Given the description of an element on the screen output the (x, y) to click on. 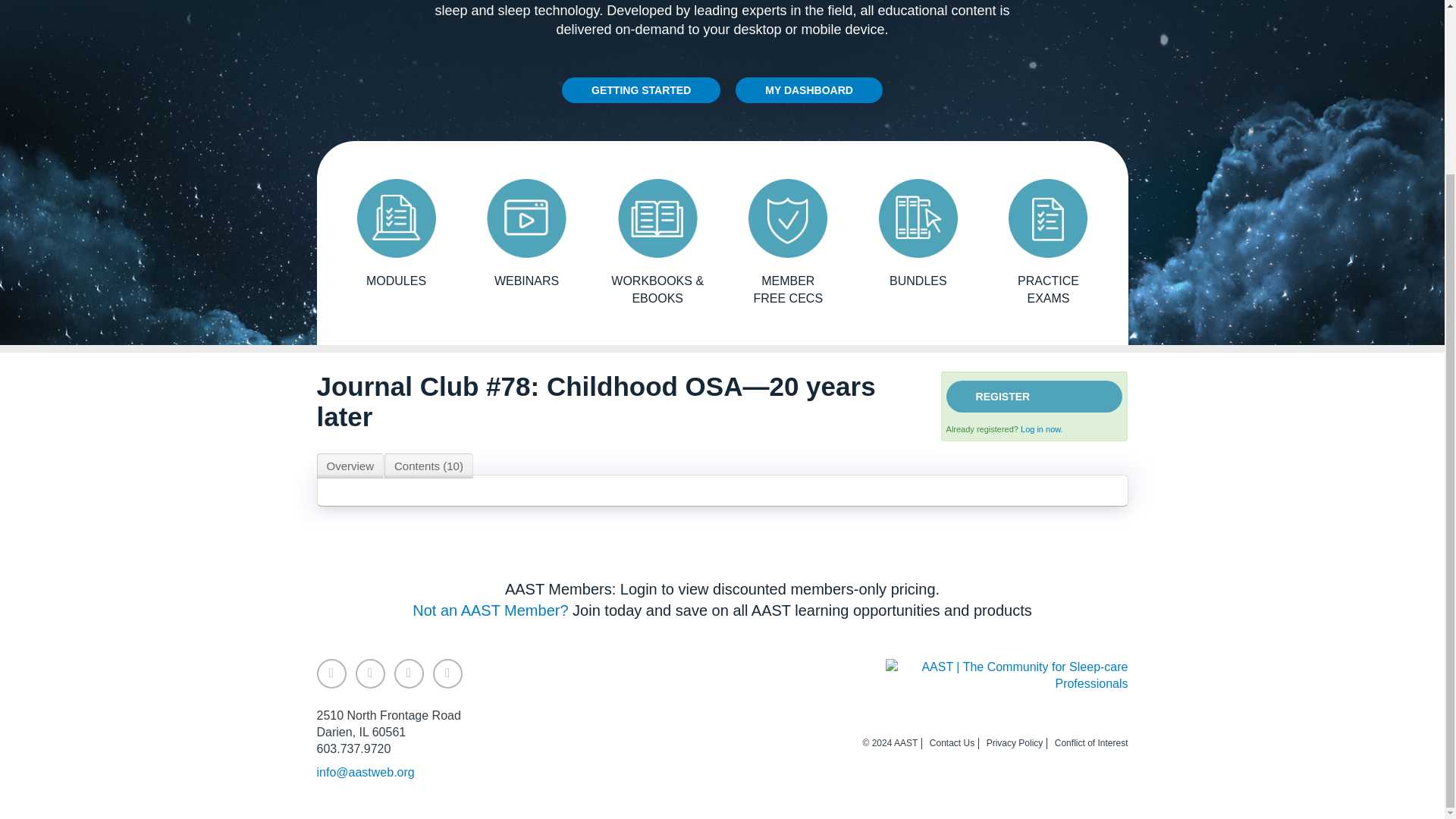
Overview (350, 466)
REGISTER (1034, 396)
MY DASHBOARD (808, 89)
MODULES (396, 234)
Log in now. (1041, 429)
WEBINARS (526, 234)
BUNDLES (918, 234)
GETTING STARTED (641, 89)
